Given the description of an element on the screen output the (x, y) to click on. 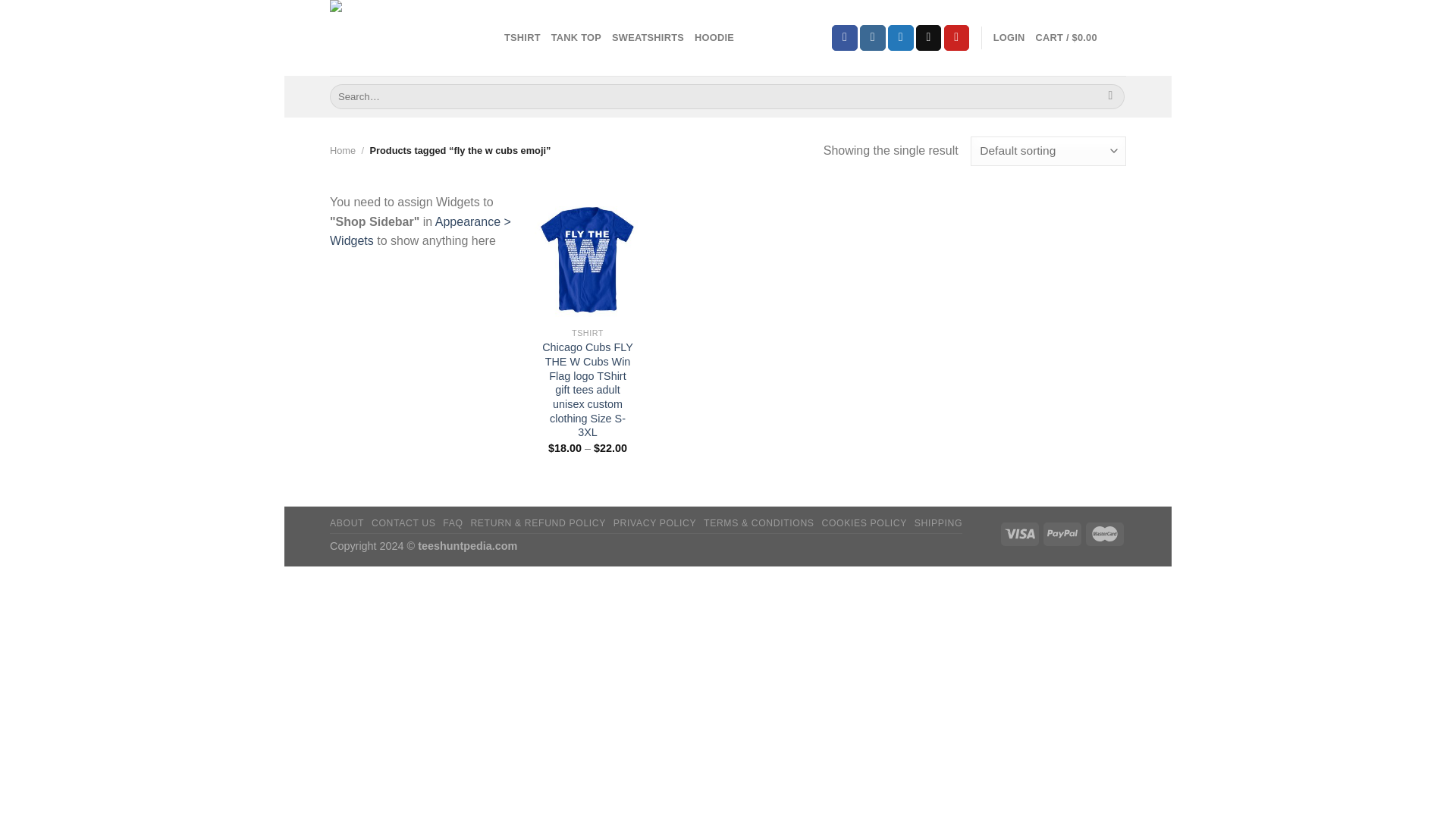
TSHIRT (521, 37)
HOODIE (713, 37)
CONTACT US (403, 522)
Follow on Facebook (844, 37)
SWEATSHIRTS (647, 37)
FAQ (452, 522)
Follow on Instagram (872, 37)
Home (342, 150)
ABOUT (347, 522)
